Given the description of an element on the screen output the (x, y) to click on. 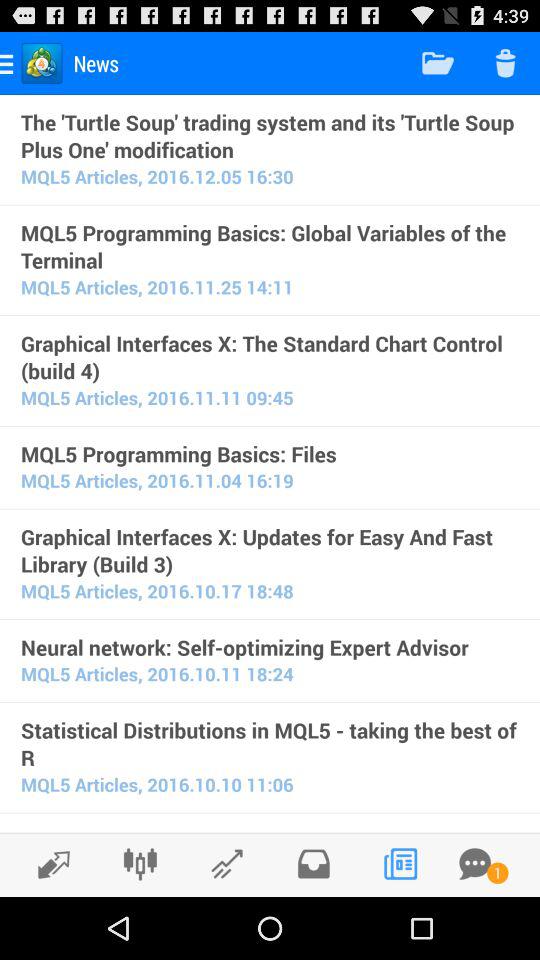
share the article (313, 863)
